Given the description of an element on the screen output the (x, y) to click on. 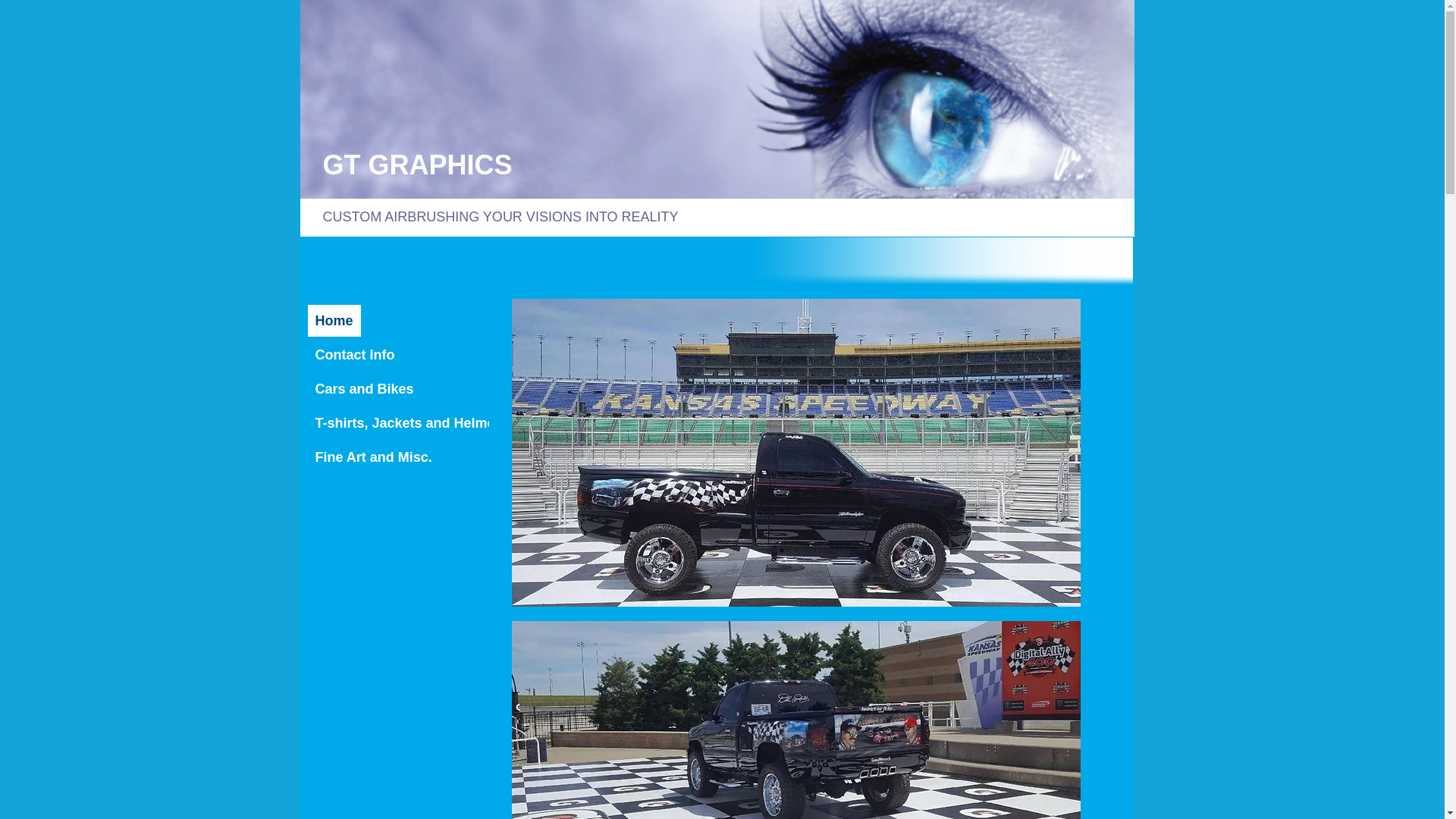
T-shirts, Jackets and Helmets Element type: text (410, 423)
Home Element type: text (333, 320)
Contact Info Element type: text (354, 354)
Fine Art and Misc. Element type: text (373, 457)
Cars and Bikes Element type: text (364, 388)
